Given the description of an element on the screen output the (x, y) to click on. 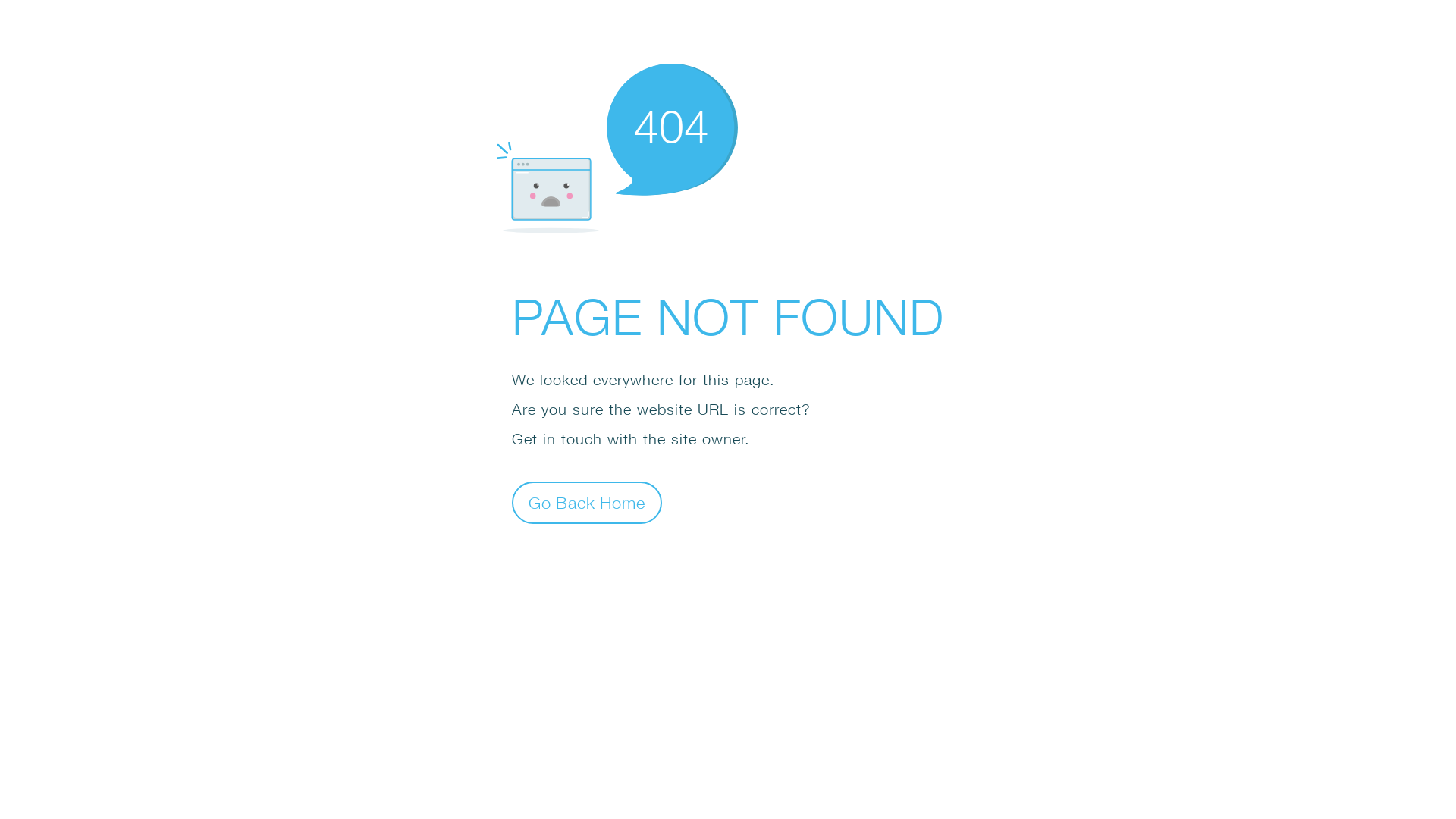
Go Back Home Element type: text (586, 502)
